Given the description of an element on the screen output the (x, y) to click on. 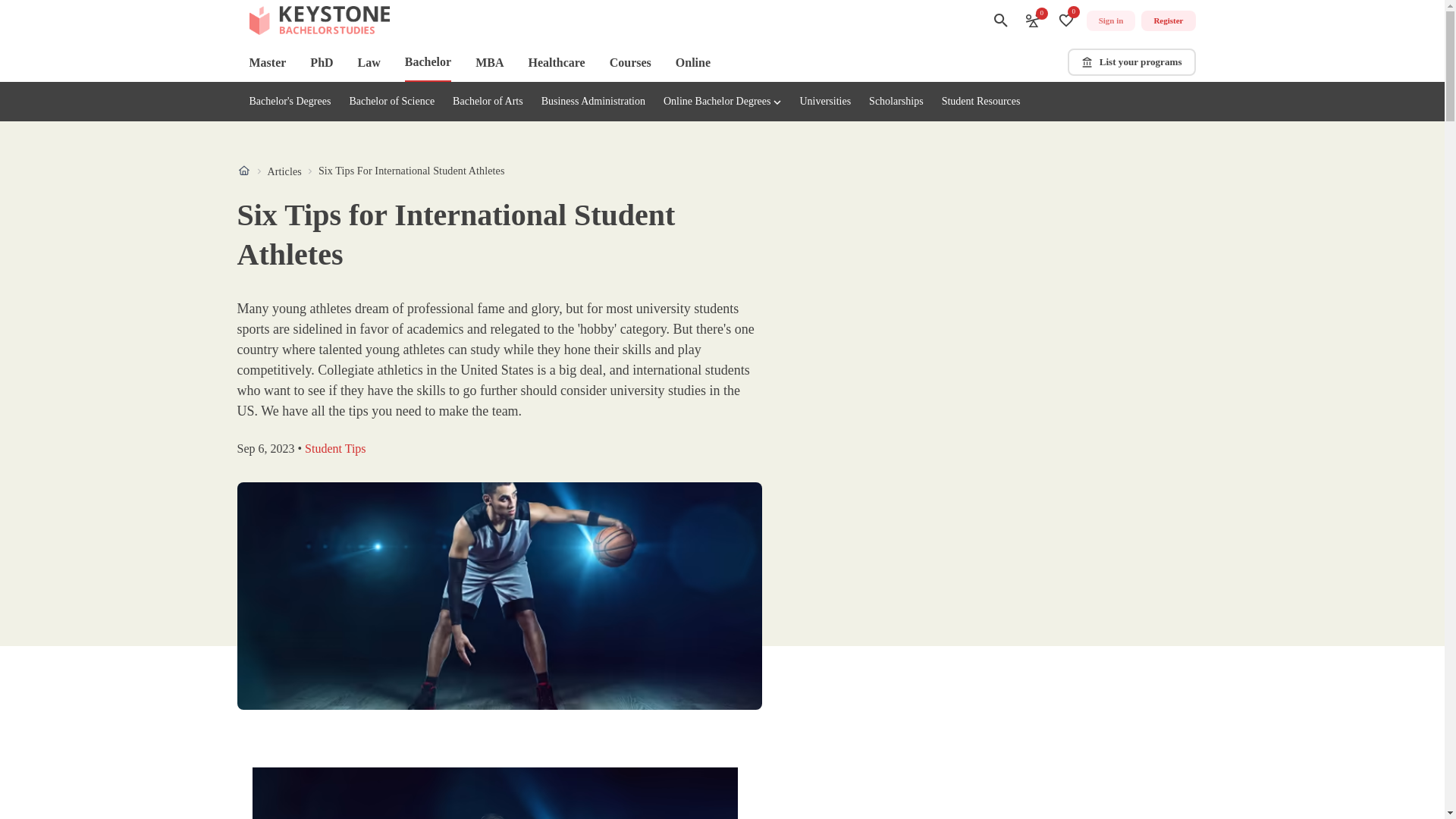
Master (266, 63)
Sign in (1110, 20)
Student Resources (369, 171)
Articles (981, 101)
Business Administration (283, 171)
Scholarships (593, 101)
Bachelor's Degrees (896, 101)
Bachelor of Arts (289, 101)
